Given the description of an element on the screen output the (x, y) to click on. 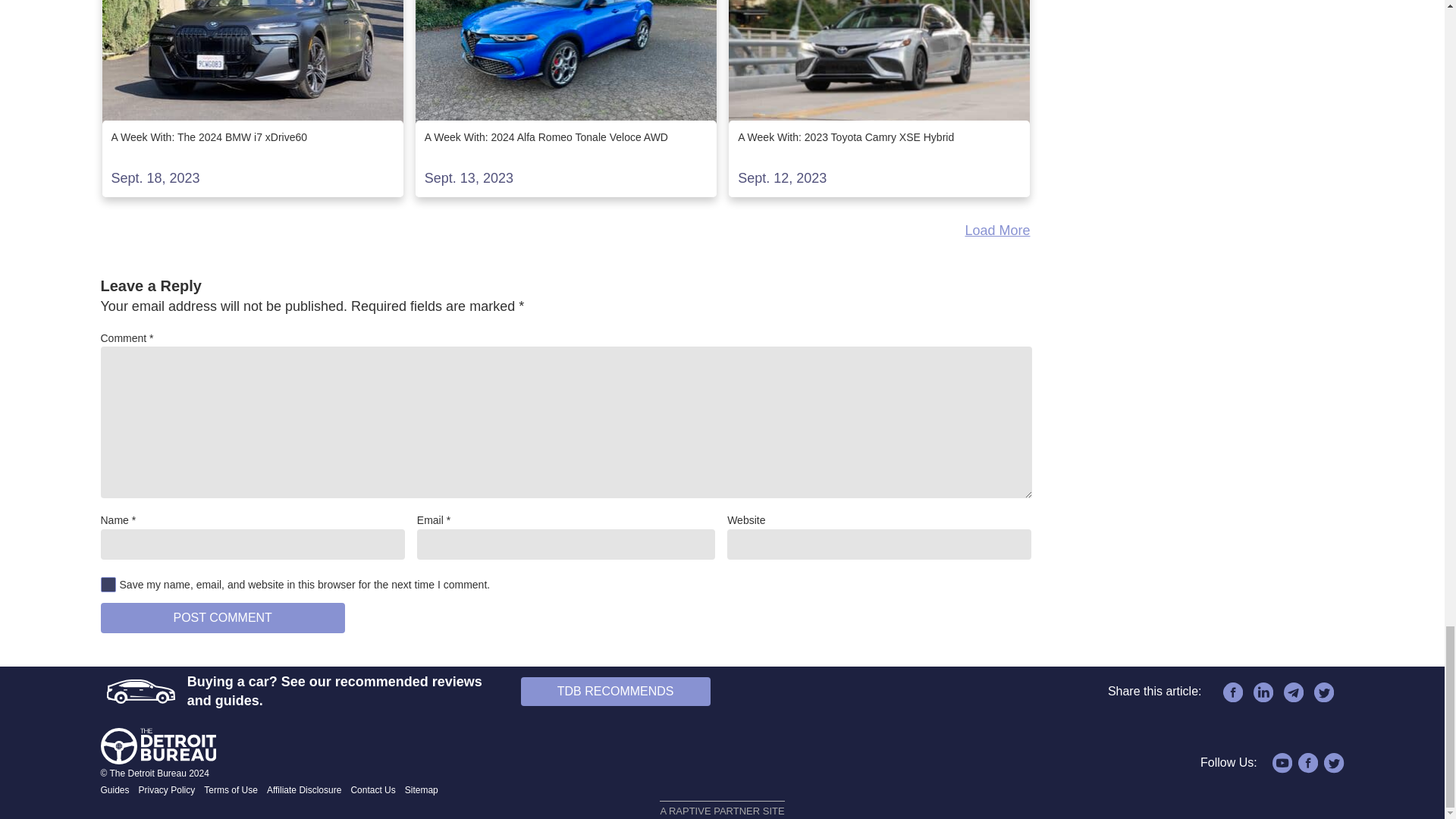
Post Comment (221, 617)
yes (107, 584)
